Given the description of an element on the screen output the (x, y) to click on. 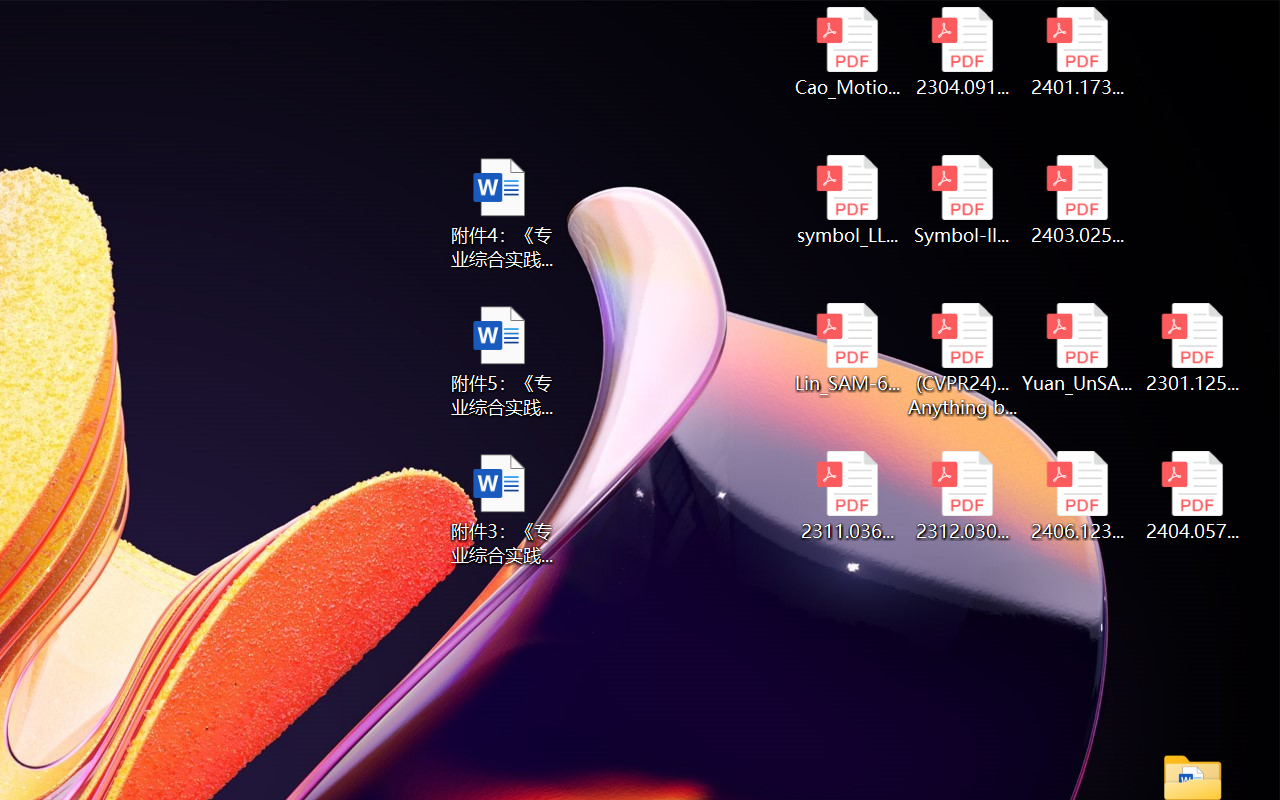
symbol_LLM.pdf (846, 200)
2301.12597v3.pdf (1192, 348)
2406.12373v2.pdf (1077, 496)
2403.02502v1.pdf (1077, 200)
(CVPR24)Matching Anything by Segmenting Anything.pdf (962, 360)
2311.03658v2.pdf (846, 496)
2304.09121v3.pdf (962, 52)
2404.05719v1.pdf (1192, 496)
2312.03032v2.pdf (962, 496)
2401.17399v1.pdf (1077, 52)
